Given the description of an element on the screen output the (x, y) to click on. 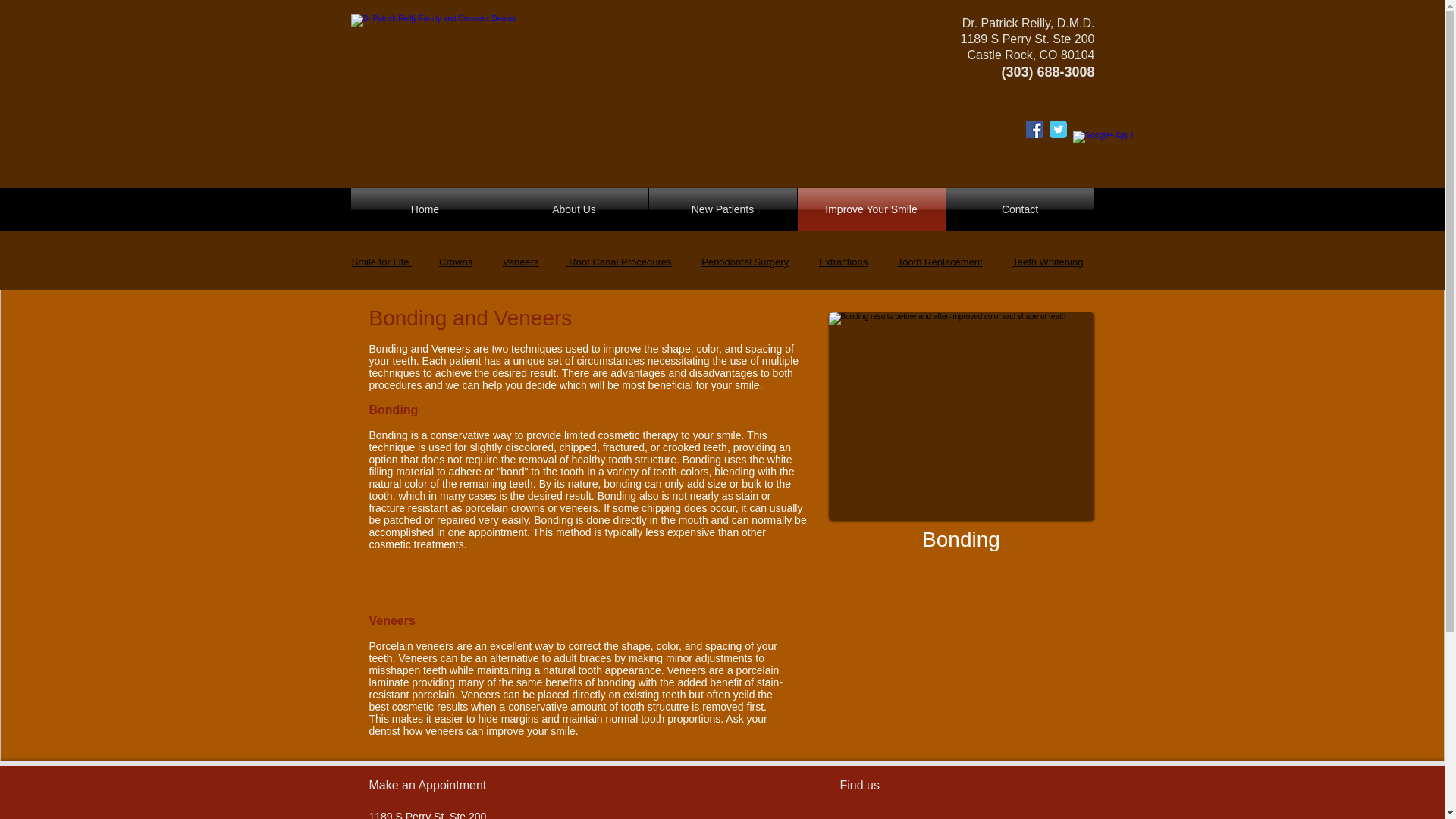
Improve Your Smile (870, 209)
About Us (573, 209)
Tooth Replacement (940, 261)
Smile for Life (382, 261)
Root Canal Procedures (618, 261)
Home (424, 209)
Extractions (842, 261)
Beautiful cosmetic smiles (960, 416)
Teeth Whitening (1047, 261)
Periodontal Surgery (745, 261)
